Given the description of an element on the screen output the (x, y) to click on. 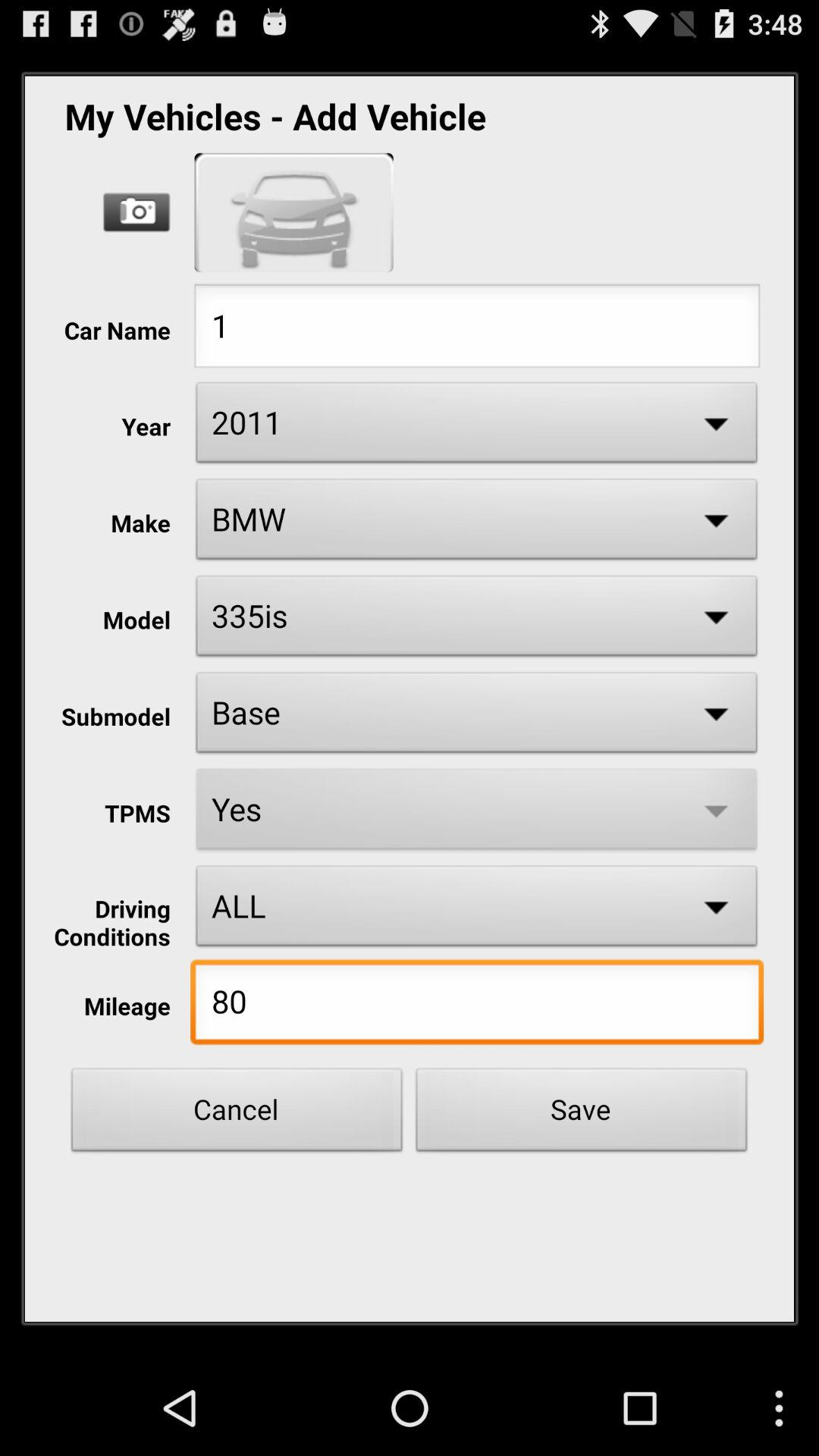
camera (136, 212)
